Given the description of an element on the screen output the (x, y) to click on. 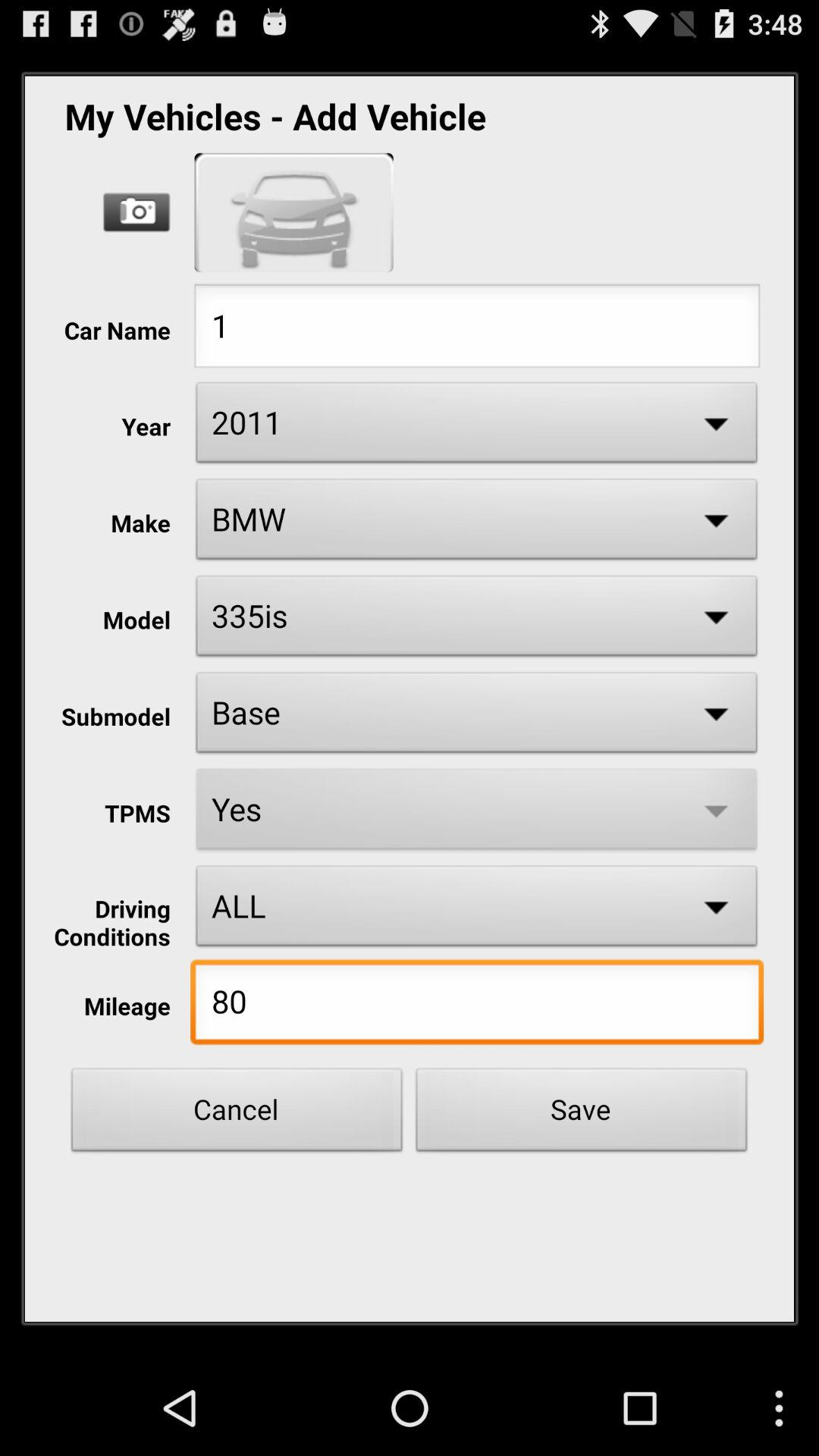
camera (136, 212)
